Given the description of an element on the screen output the (x, y) to click on. 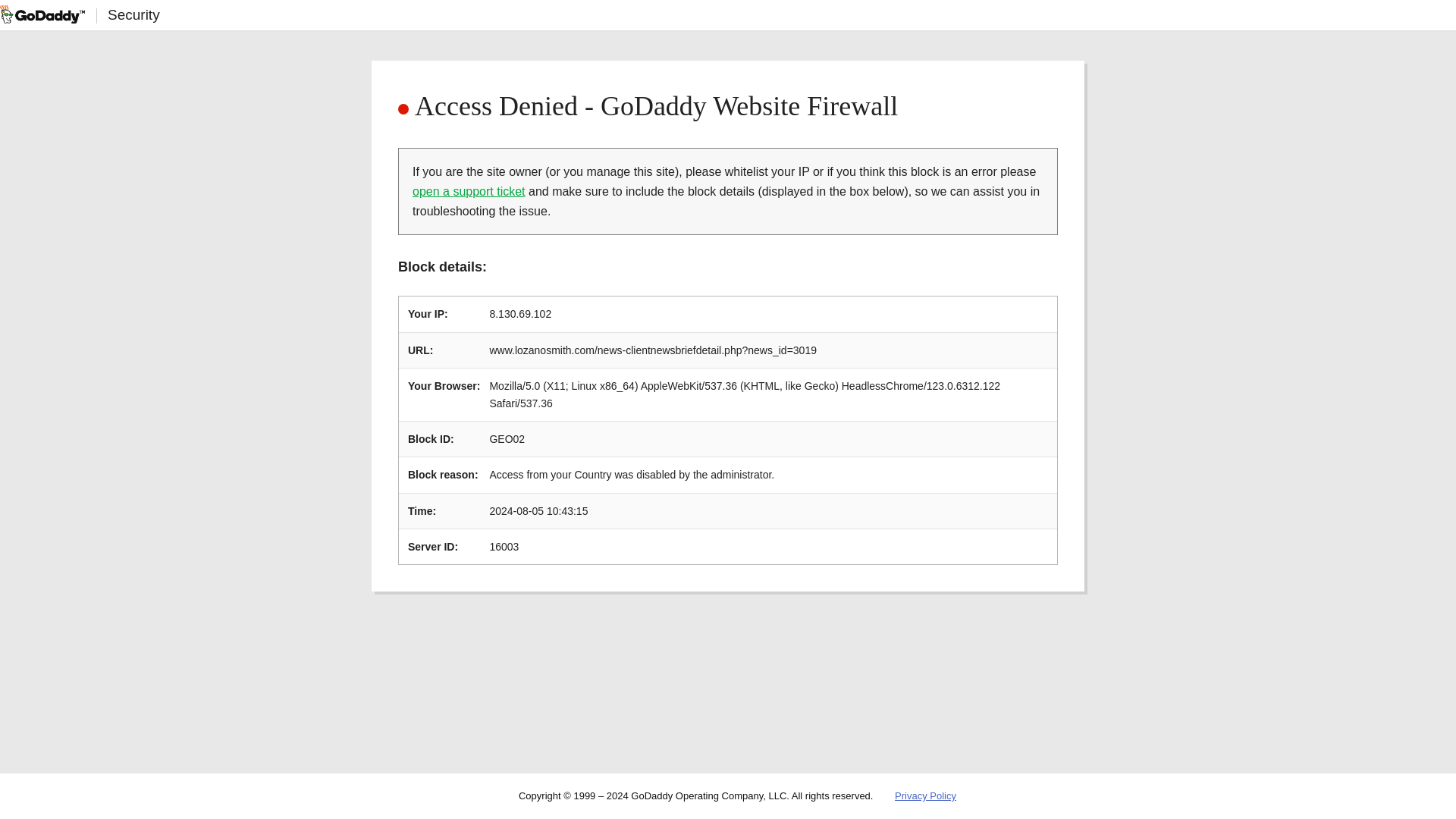
Privacy Policy (925, 795)
open a support ticket (468, 191)
